Given the description of an element on the screen output the (x, y) to click on. 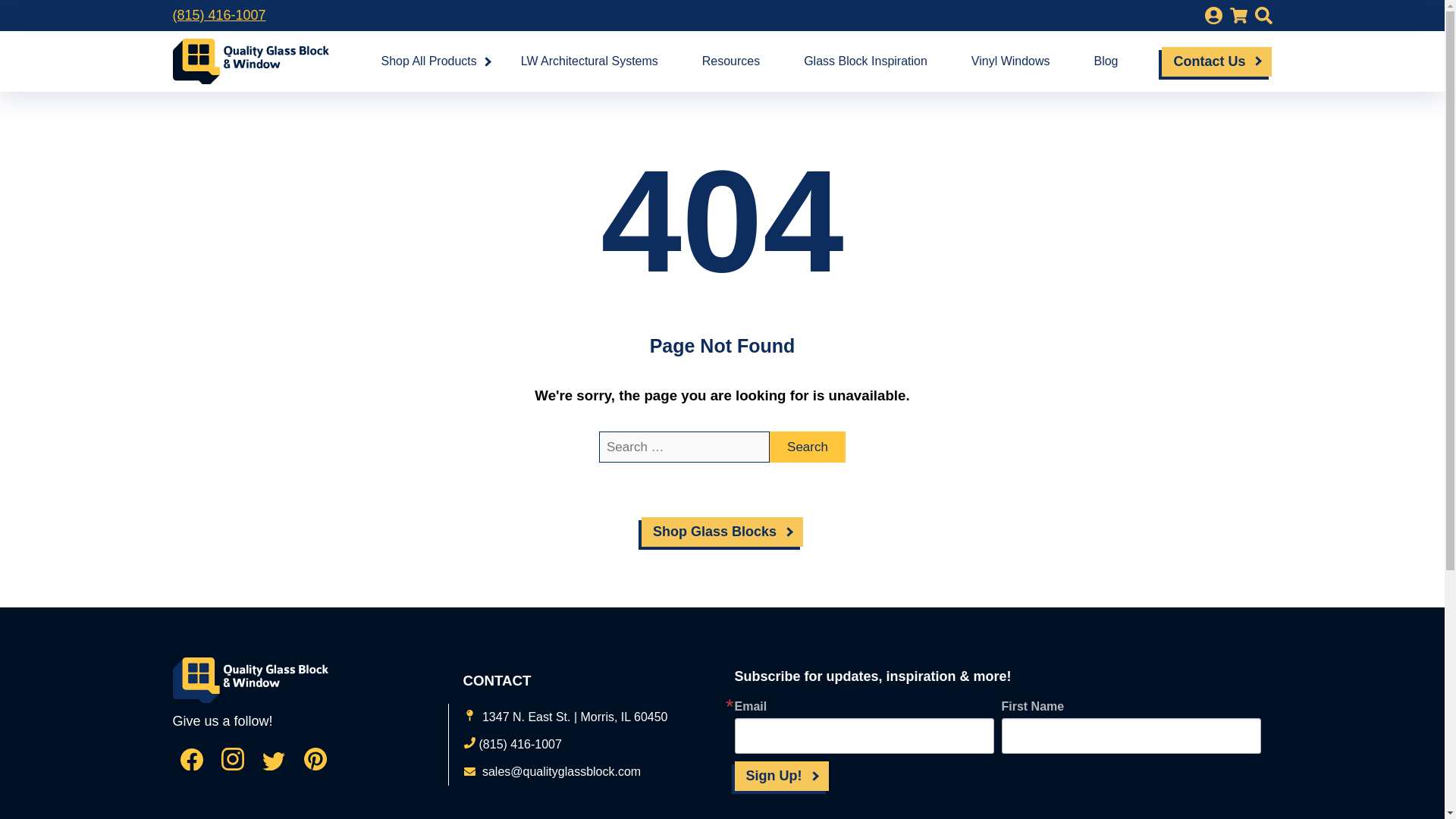
Search for: (684, 446)
Shop All Products (428, 61)
Search (807, 446)
Search (807, 446)
